Given the description of an element on the screen output the (x, y) to click on. 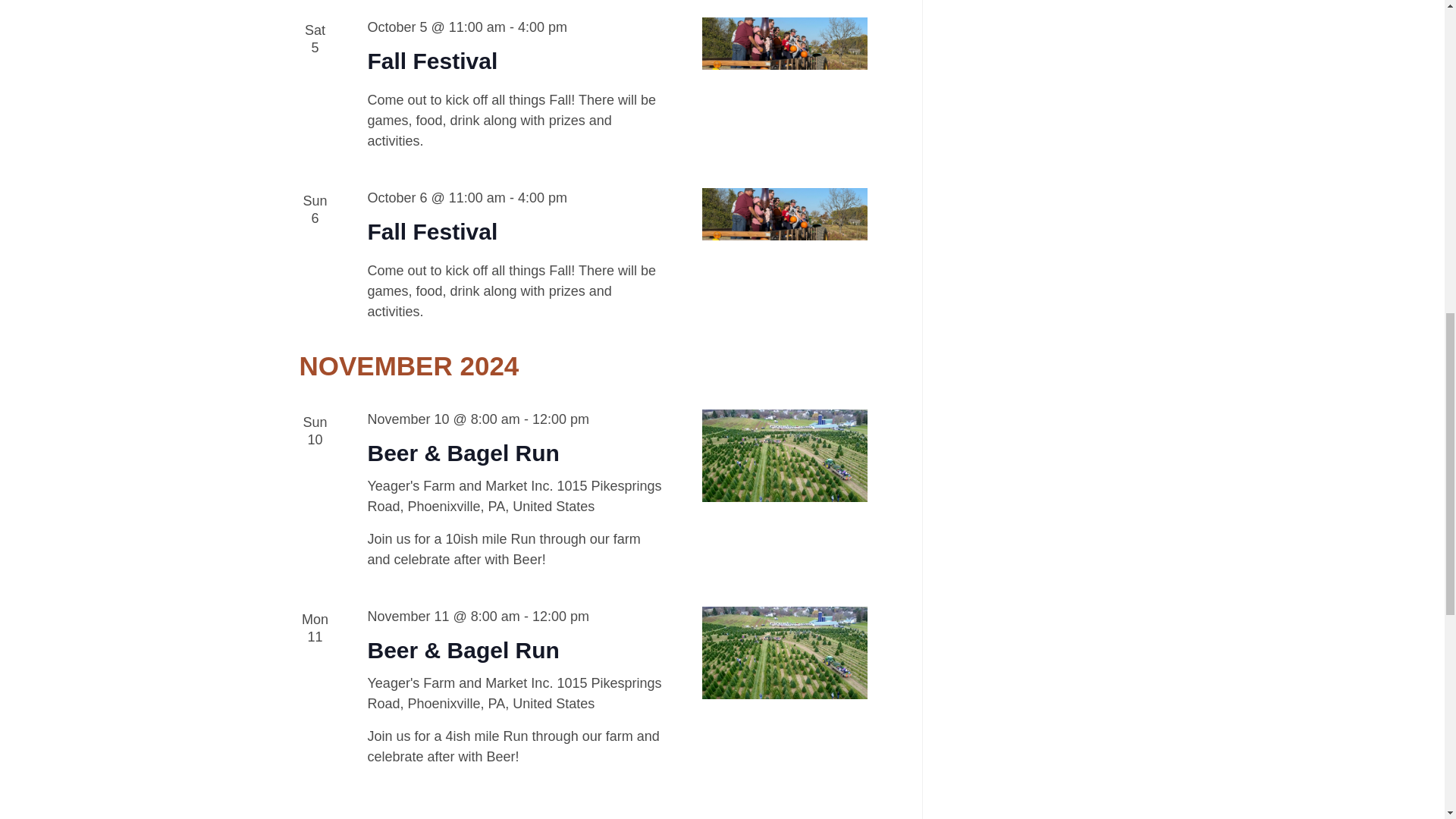
Fall Festival (431, 60)
Fall Festival (431, 231)
Fall Festival (783, 214)
Fall Festival (783, 43)
